Given the description of an element on the screen output the (x, y) to click on. 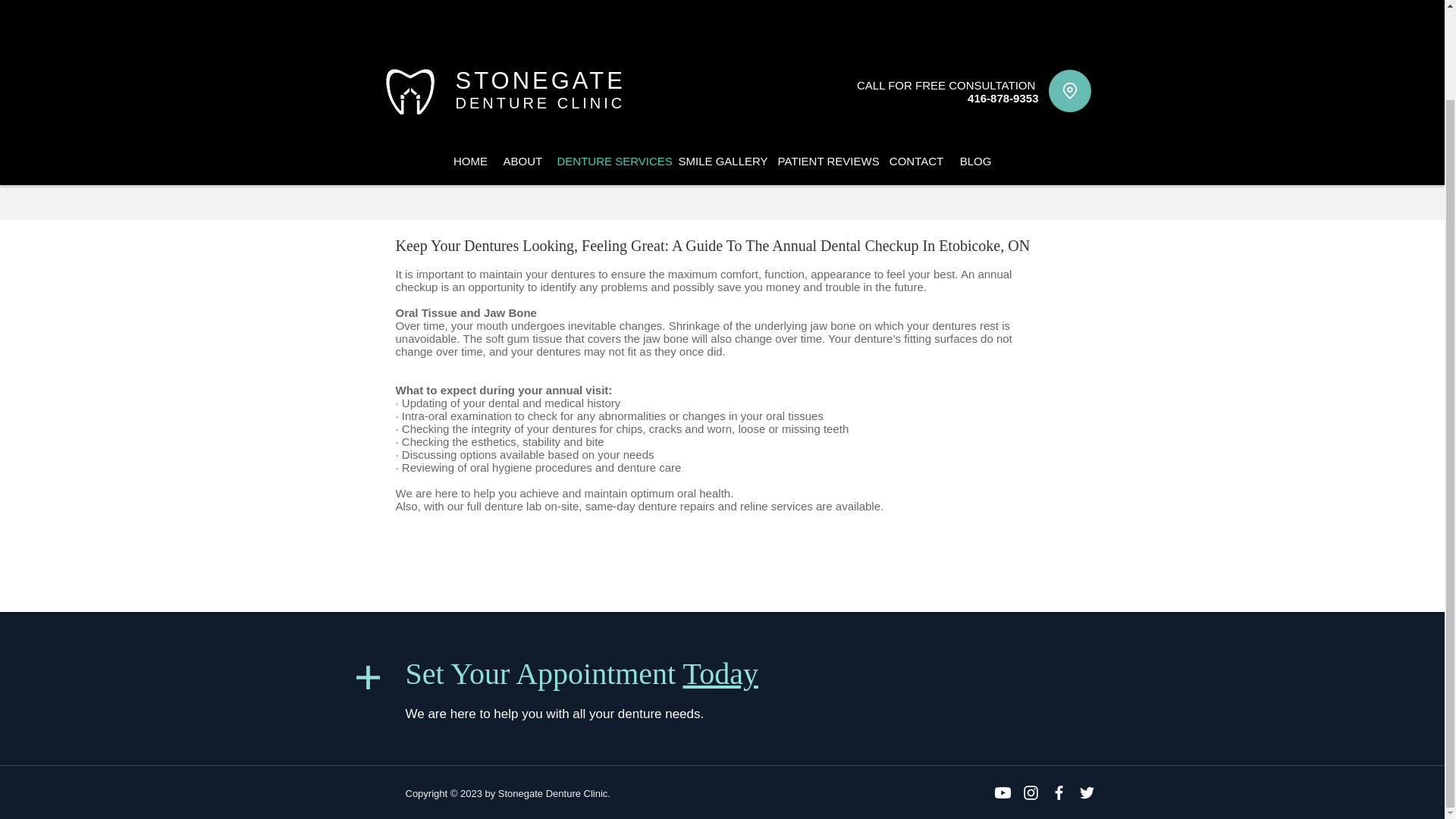
HOME (470, 58)
BLOG (975, 58)
SMILE GALLERY (719, 58)
ABOUT (523, 58)
PATIENT REVIEWS (825, 58)
DENTURE SERVICES (608, 58)
CONTACT (916, 58)
Set Your Appointment Today (580, 673)
